Given the description of an element on the screen output the (x, y) to click on. 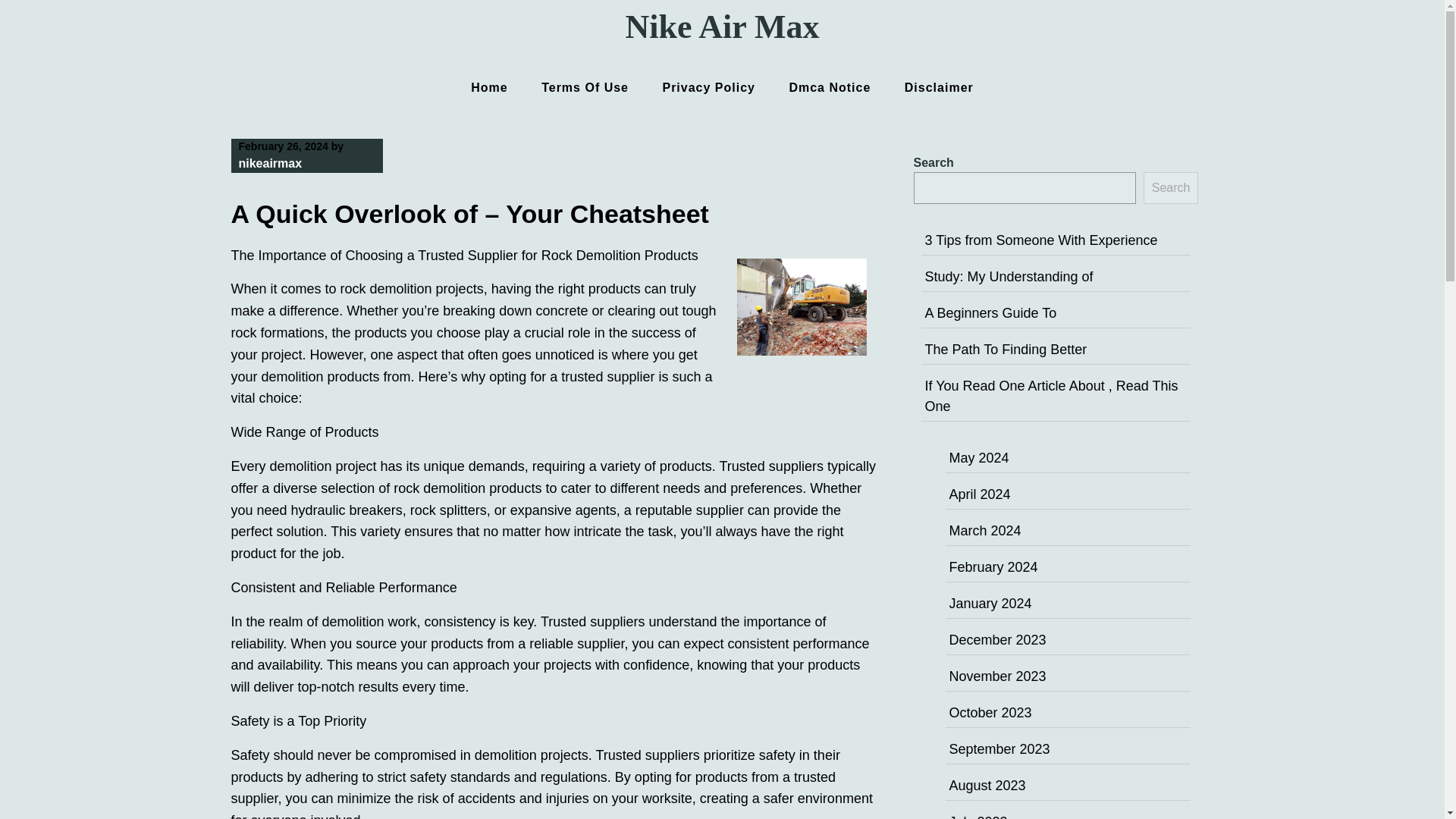
May 2024 (979, 458)
March 2024 (985, 530)
October 2023 (990, 712)
nikeairmax (269, 163)
Disclaimer (938, 87)
3 Tips from Someone With Experience (1040, 240)
September 2023 (999, 749)
January 2024 (990, 603)
December 2023 (997, 639)
The Path To Finding Better (1005, 349)
